Given the description of an element on the screen output the (x, y) to click on. 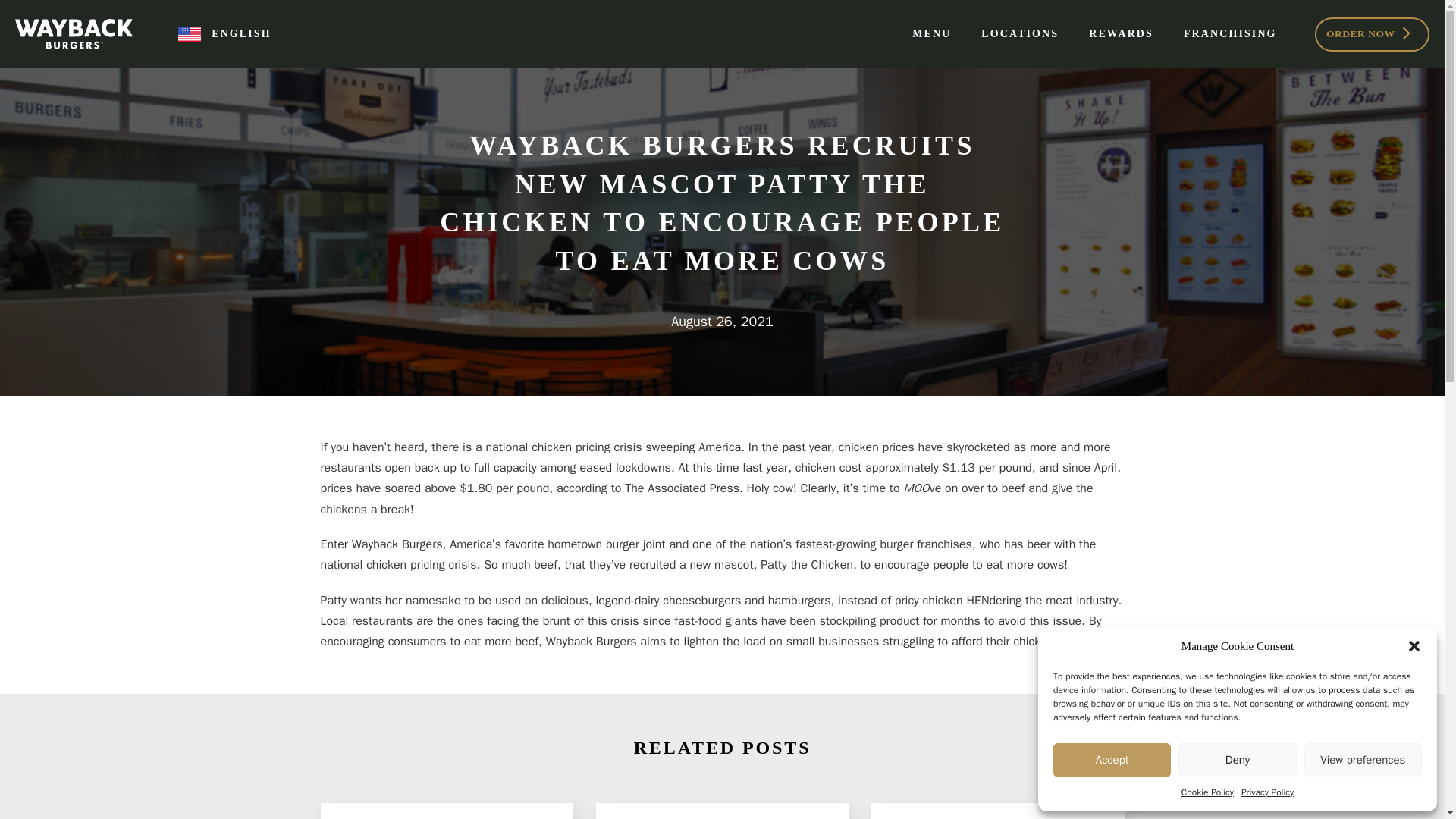
English (224, 34)
View preferences (1363, 759)
ORDER NOW (1371, 33)
Deny (1236, 759)
LOCATIONS (1019, 33)
Accept (1111, 759)
Privacy Policy (1267, 792)
FRANCHISING (1230, 33)
Order Online (1371, 33)
Cookie Policy (1206, 792)
